Given the description of an element on the screen output the (x, y) to click on. 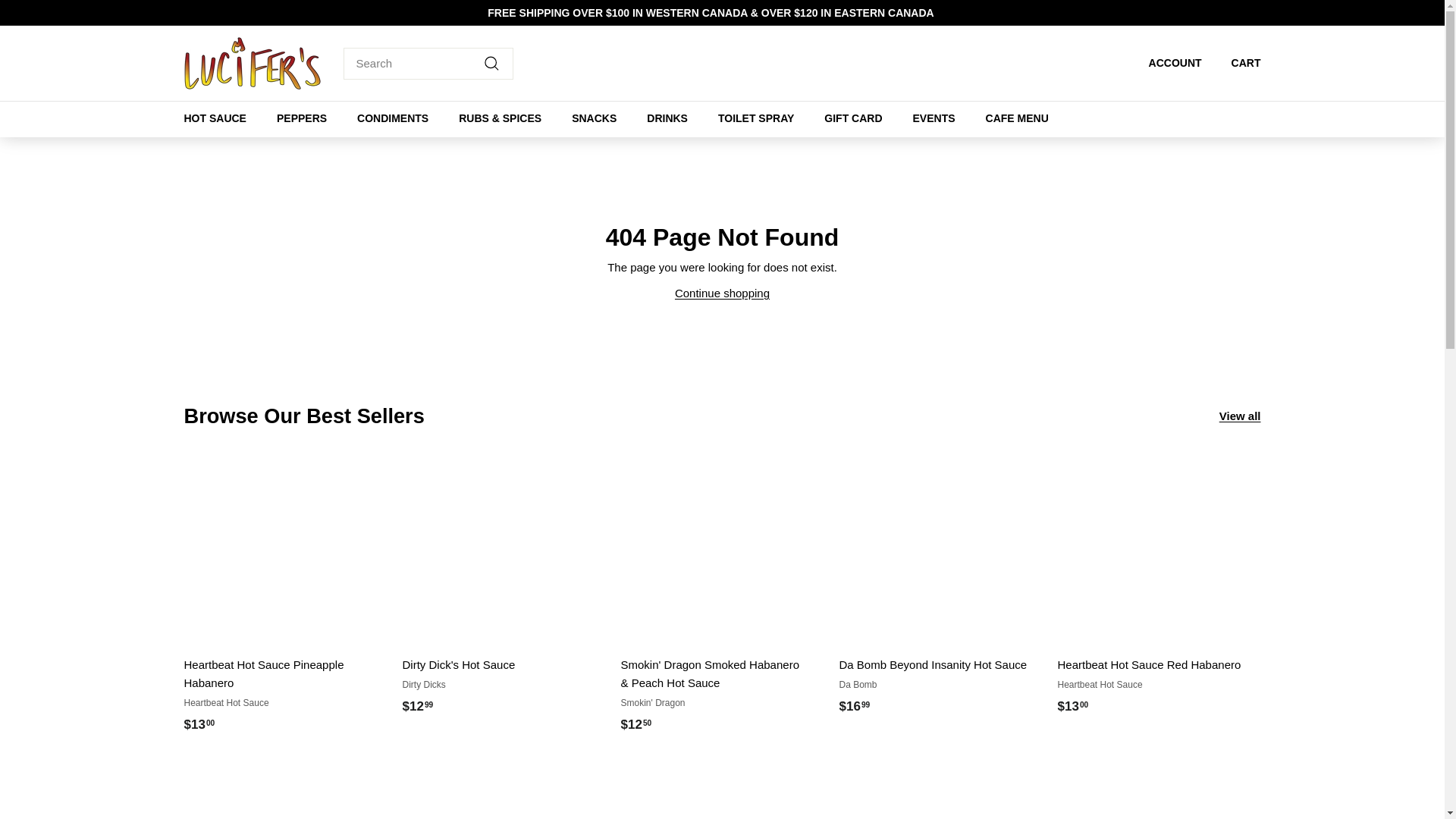
CART (1240, 63)
Lucifer's House of Heat on Facebook (1256, 12)
DRINKS (667, 118)
TOILET SPRAY (756, 118)
Facebook (1256, 12)
SNACKS (593, 118)
CAFE MENU (1017, 118)
Lucifer's House of Heat on Instagram (1248, 12)
GIFT CARD (852, 118)
